Given the description of an element on the screen output the (x, y) to click on. 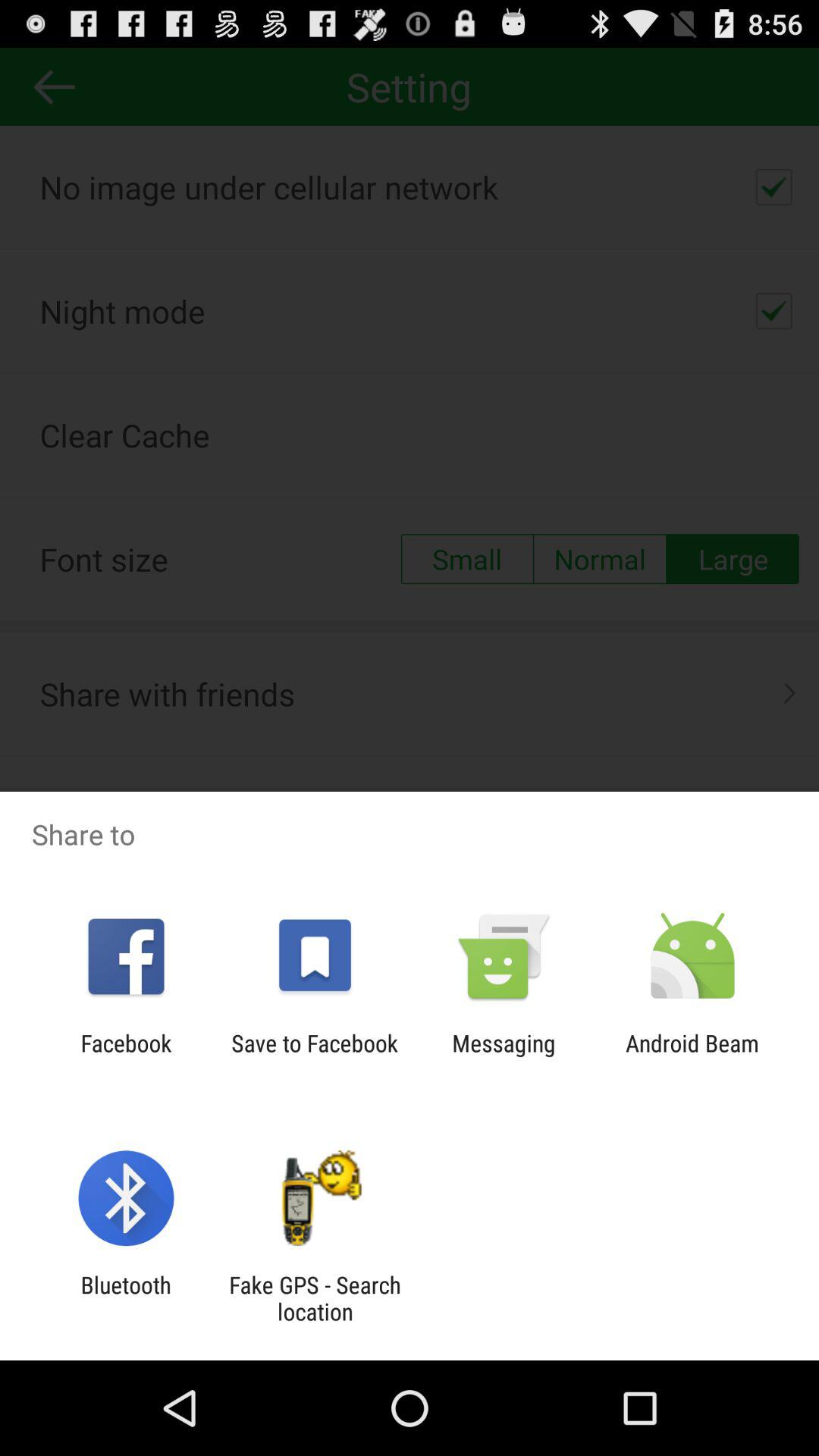
flip until save to facebook (314, 1056)
